Given the description of an element on the screen output the (x, y) to click on. 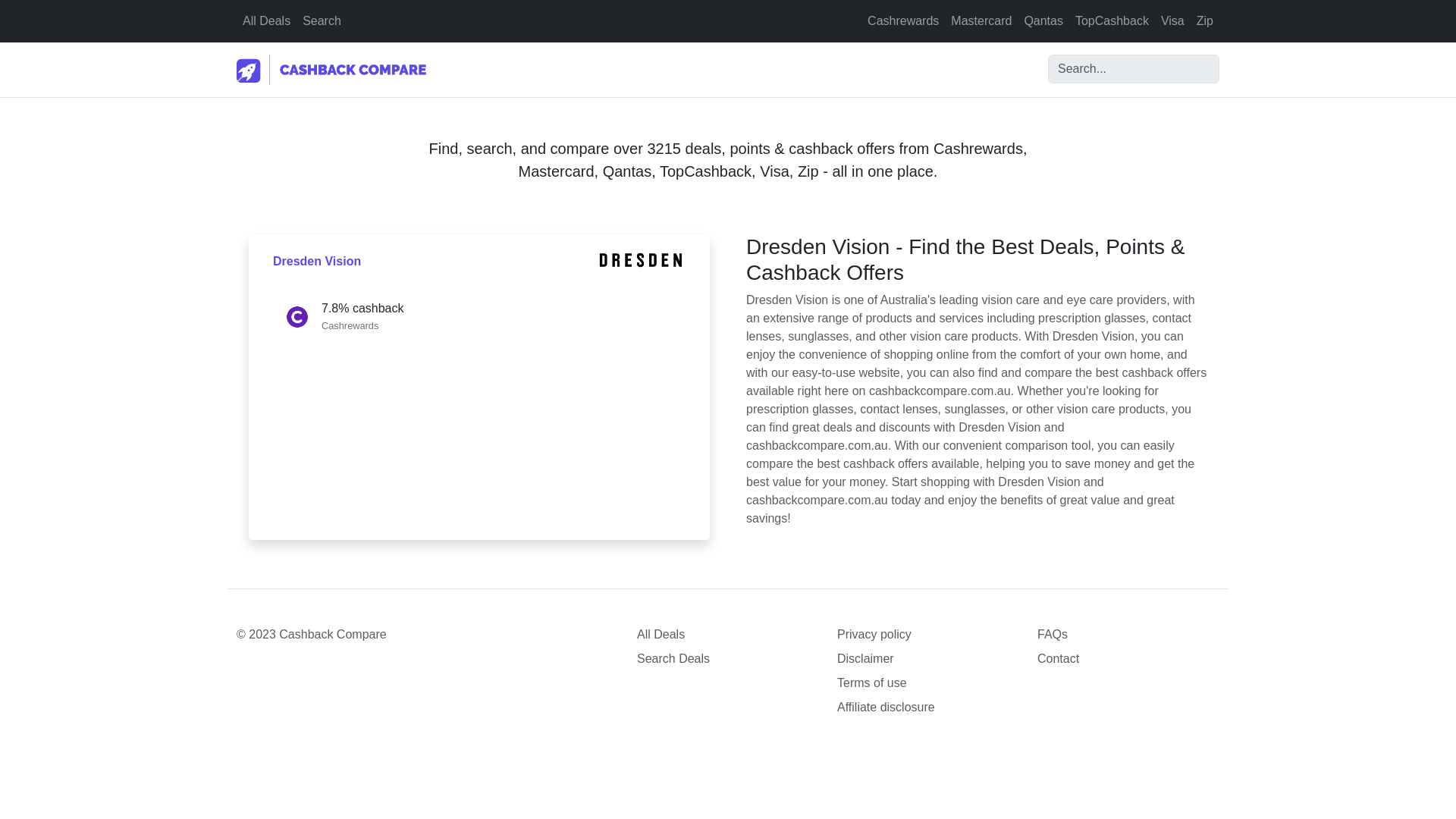
FAQs (1128, 634)
Qantas (1042, 20)
TopCashback (1111, 20)
Disclaimer (928, 659)
Cashrewards (902, 20)
Search Deals (727, 659)
Contact (1128, 659)
Privacy policy (928, 634)
Terms of use (928, 683)
All Deals (266, 20)
Zip (1205, 20)
Mastercard (980, 20)
Affiliate disclosure (928, 707)
Visa (1172, 20)
Search (322, 20)
